Given the description of an element on the screen output the (x, y) to click on. 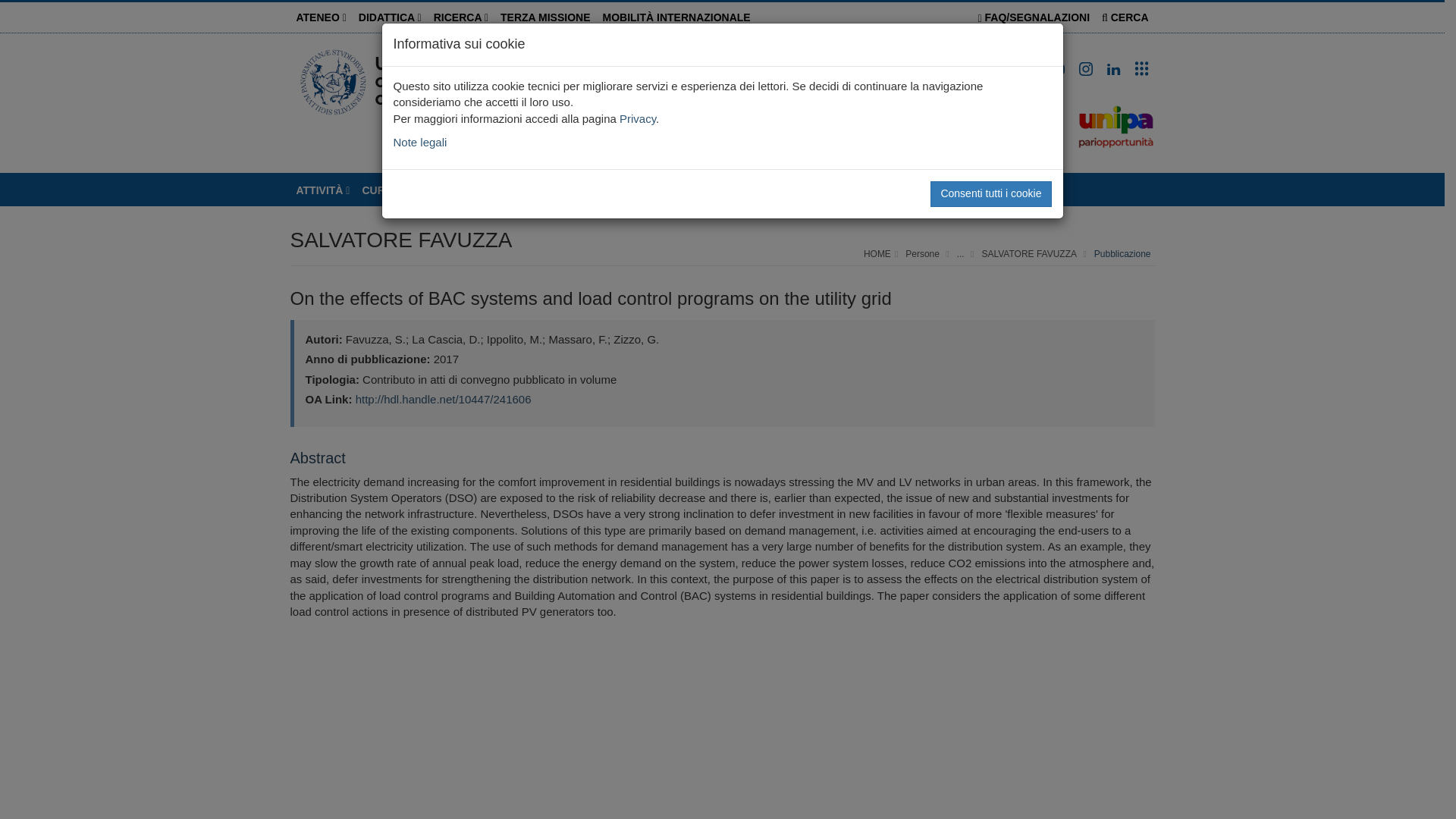
Didattica (390, 17)
ATENEO  (320, 17)
Ateneo (320, 17)
DIDATTICA  (390, 17)
RICERCA  (461, 17)
